Given the description of an element on the screen output the (x, y) to click on. 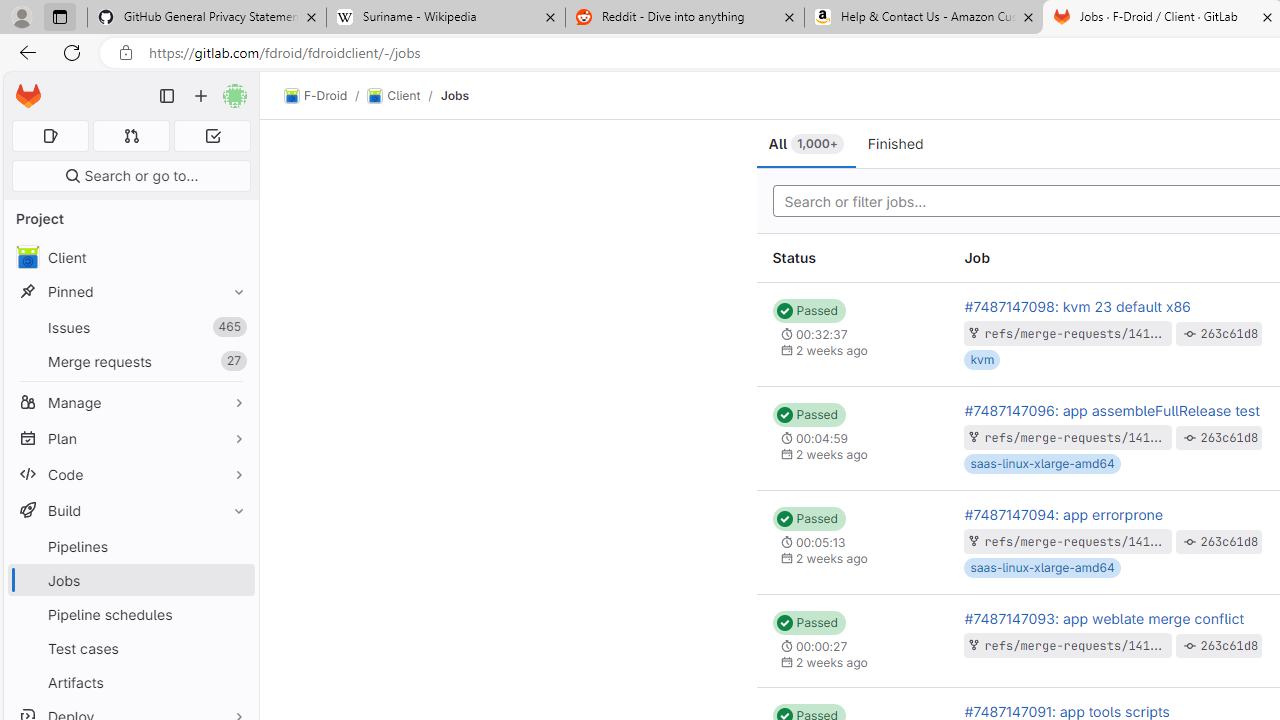
Plan (130, 438)
Issues 465 (130, 327)
Homepage (27, 96)
Client (130, 257)
Status: Passed 00:05:13 2 weeks ago (852, 542)
Code (130, 474)
Help & Contact Us - Amazon Customer Service (924, 17)
Unpin Merge requests (234, 361)
Assigned issues 0 (50, 136)
Status: Passed 00:32:37 2 weeks ago (852, 334)
Unpin Issues (234, 327)
#7487147094: app errorprone (1063, 514)
BuildPipelinesJobsPipeline schedulesTest casesArtifacts (130, 596)
Primary navigation sidebar (167, 96)
Status: Passed 00:04:59 2 weeks ago (852, 438)
